Given the description of an element on the screen output the (x, y) to click on. 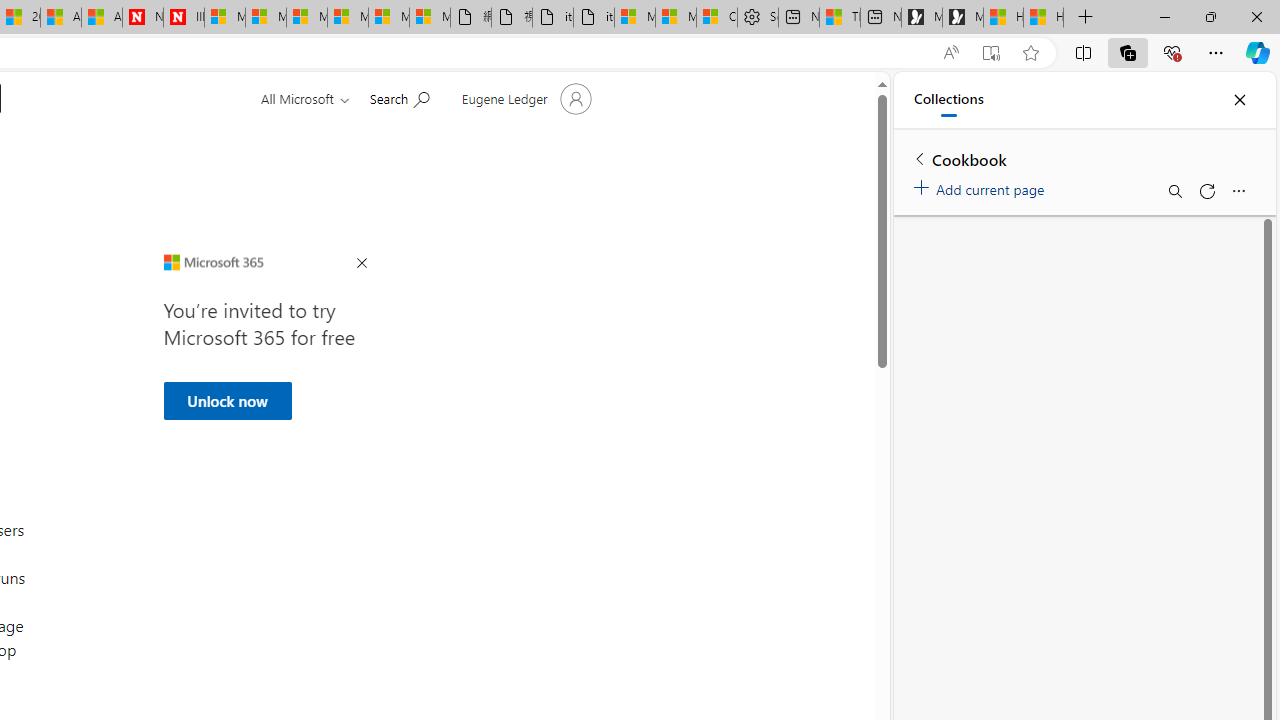
Illness news & latest pictures from Newsweek.com (183, 17)
Close Ad (361, 264)
More options menu (1238, 190)
Account manager for Eugene Ledger (524, 98)
Search for help (399, 97)
